Given the description of an element on the screen output the (x, y) to click on. 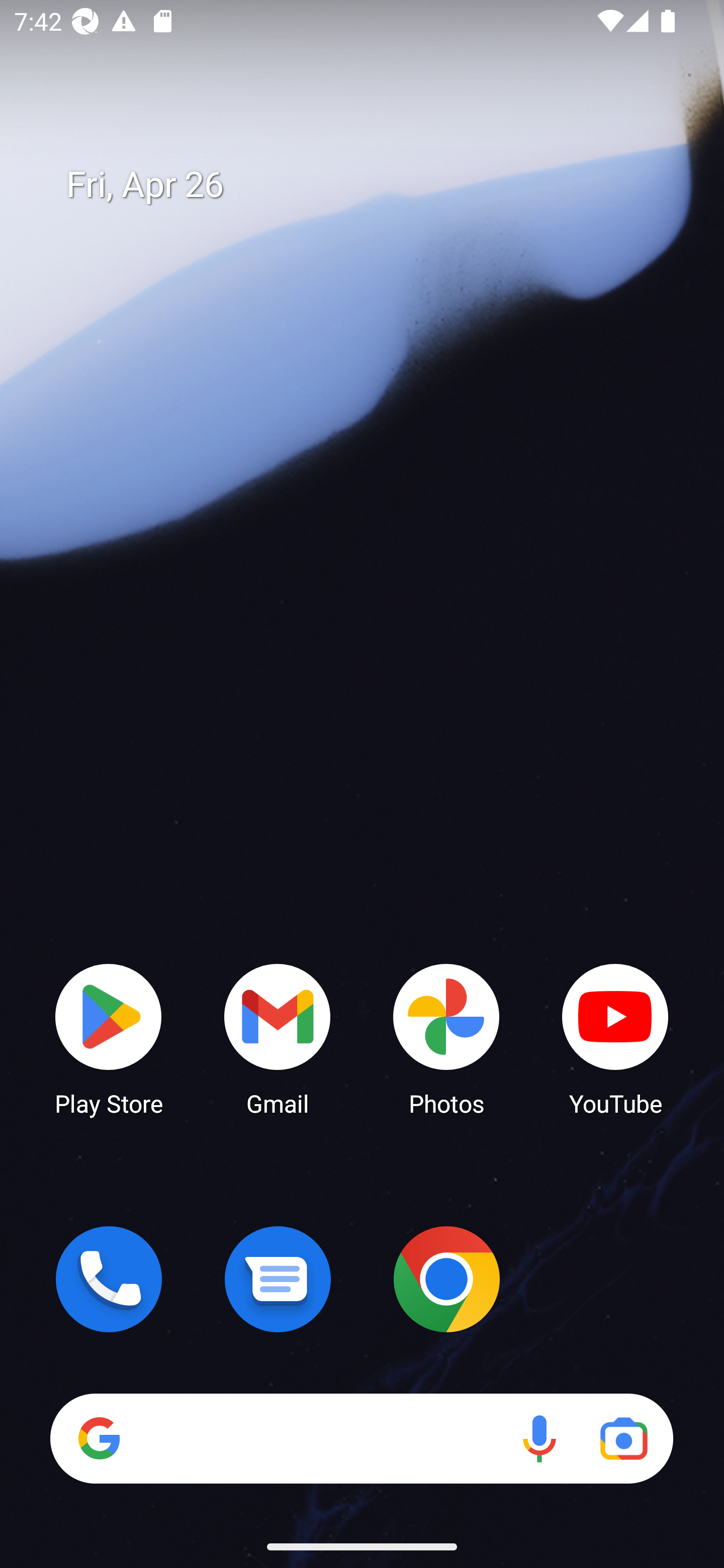
Fri, Apr 26 (375, 184)
Play Store (108, 1038)
Gmail (277, 1038)
Photos (445, 1038)
YouTube (615, 1038)
Phone (108, 1279)
Messages (277, 1279)
Chrome (446, 1279)
Search Voice search Google Lens (361, 1438)
Voice search (539, 1438)
Google Lens (623, 1438)
